Given the description of an element on the screen output the (x, y) to click on. 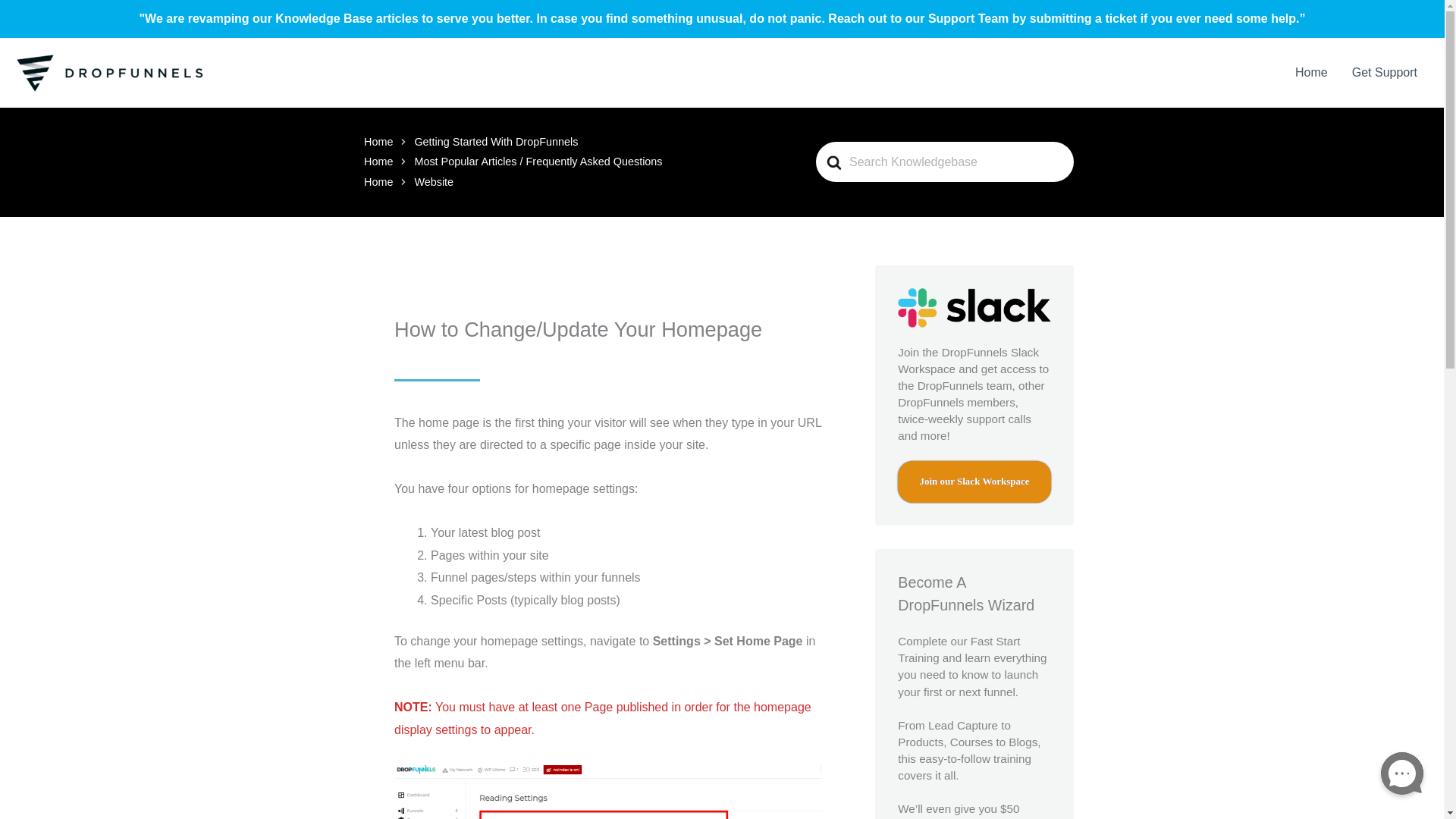
Website (432, 182)
Join our Slack Workspace (973, 481)
Getting Started With DropFunnels (495, 141)
Home (378, 161)
Home (378, 141)
Get Support (1384, 72)
Home (378, 182)
Redirect to training (973, 481)
Home (1310, 72)
